Given the description of an element on the screen output the (x, y) to click on. 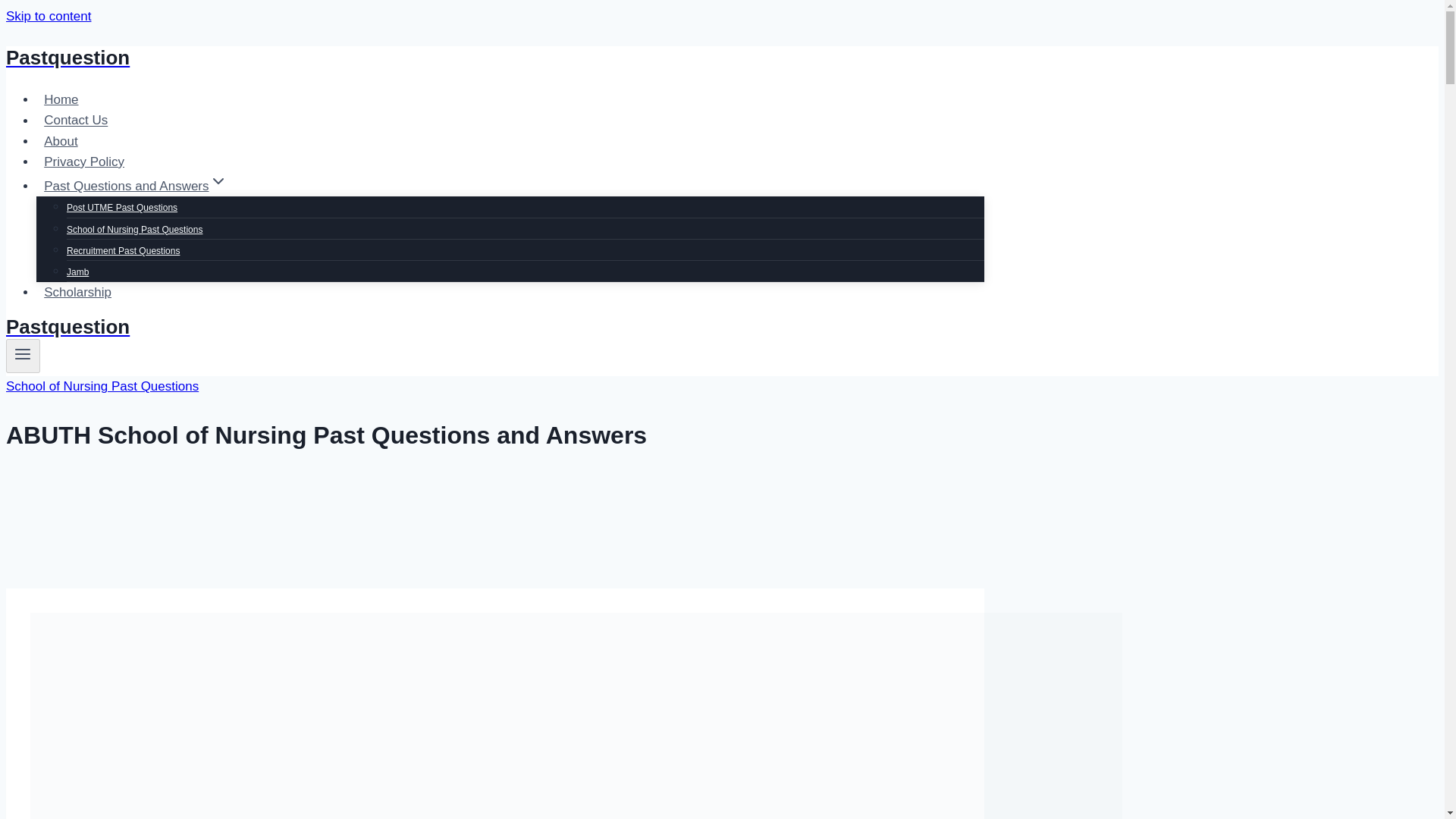
Contact Us (75, 120)
Expand (218, 180)
Privacy Policy (84, 161)
School of Nursing Past Questions (101, 386)
Home (60, 99)
Past Questions and AnswersExpand (135, 185)
School of Nursing Past Questions (134, 229)
Pastquestion (494, 327)
Pastquestion (494, 57)
